Given the description of an element on the screen output the (x, y) to click on. 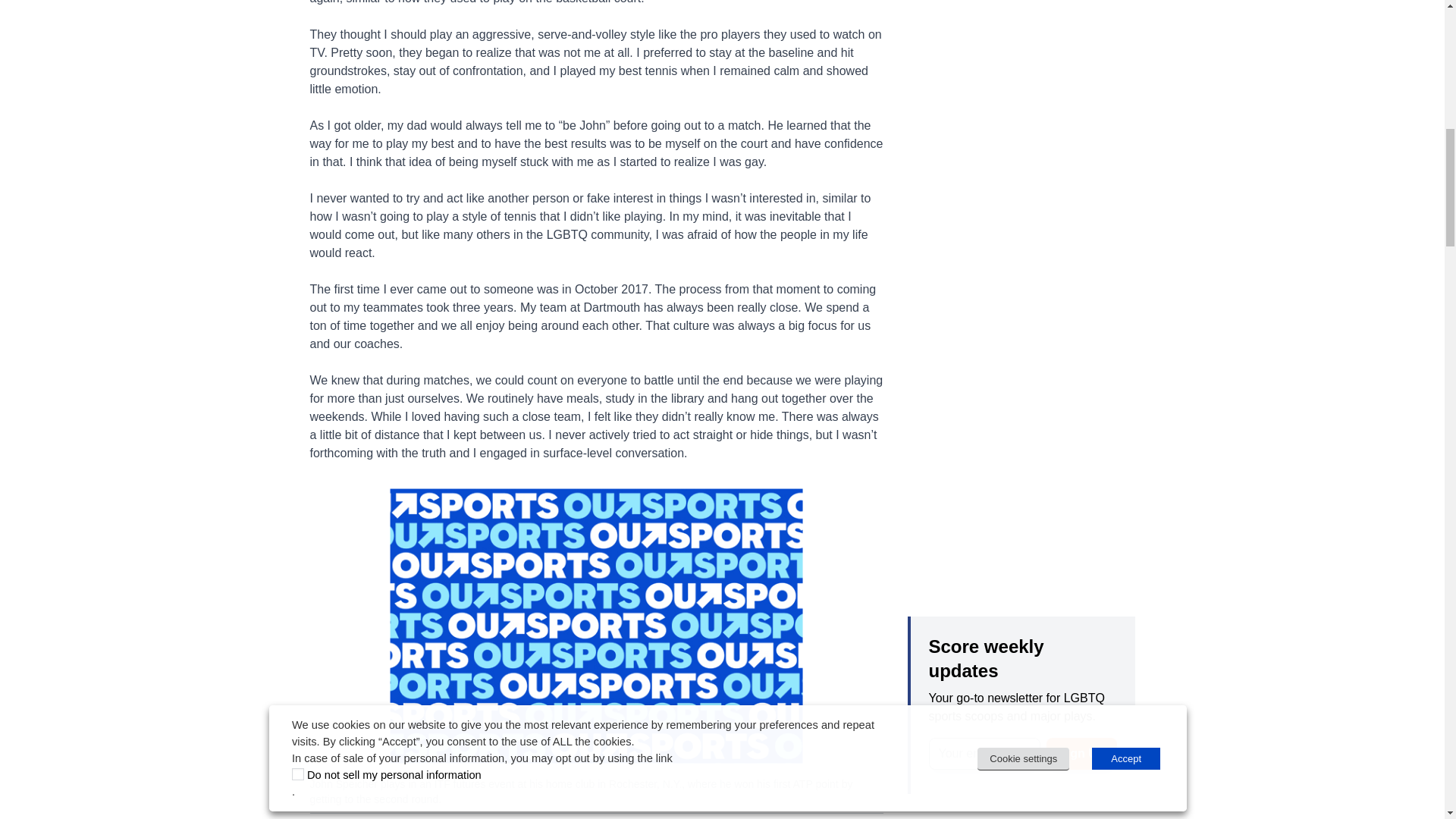
Sign Up (1081, 753)
